Given the description of an element on the screen output the (x, y) to click on. 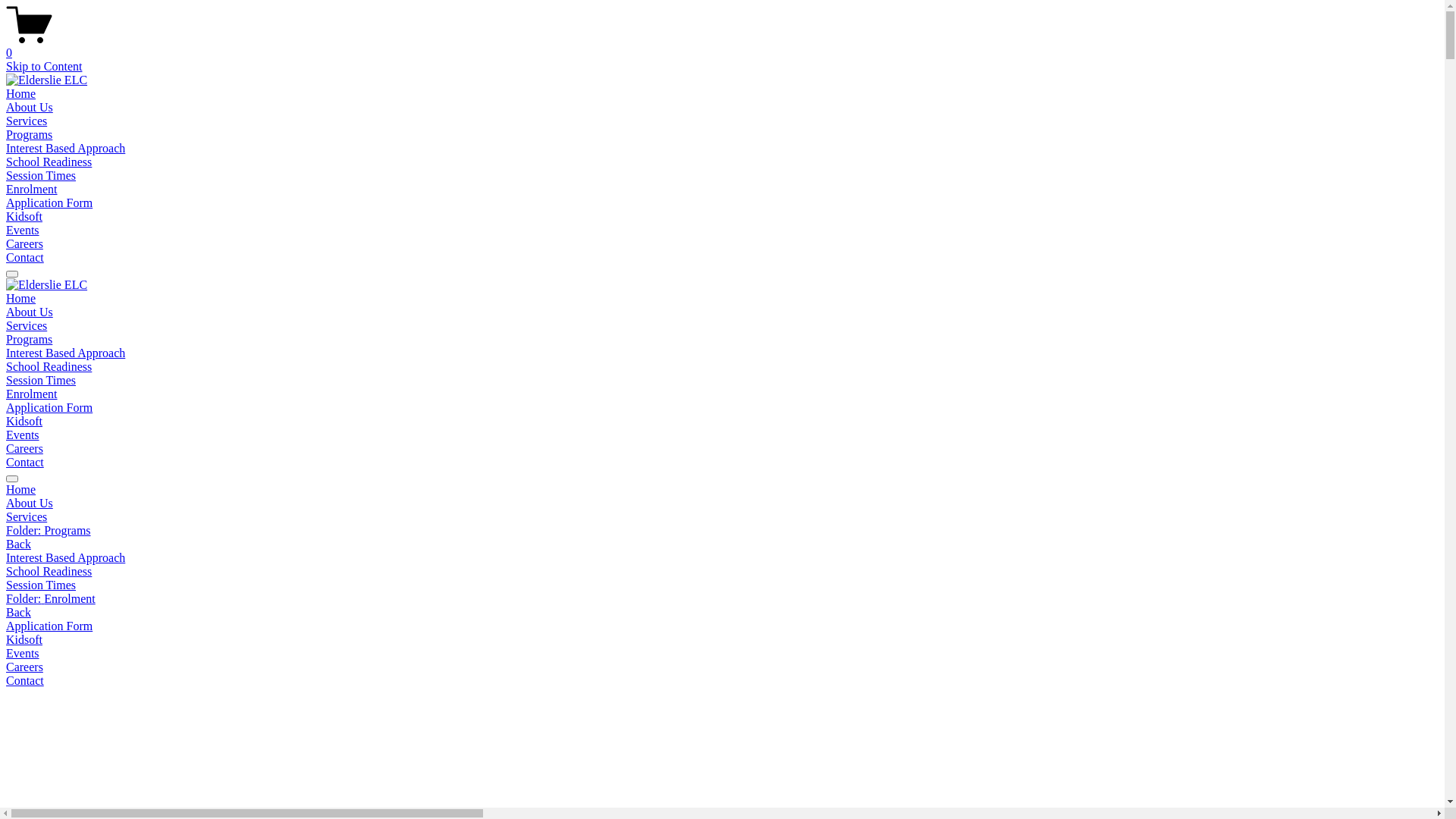
Kidsoft Element type: text (24, 216)
Application Form Element type: text (722, 626)
0 Element type: text (722, 45)
Back Element type: text (18, 611)
About Us Element type: text (722, 503)
School Readiness Element type: text (48, 366)
Back Element type: text (18, 543)
Careers Element type: text (24, 448)
Kidsoft Element type: text (24, 420)
Enrolment Element type: text (31, 188)
Folder: Programs Element type: text (722, 530)
Services Element type: text (722, 517)
Session Times Element type: text (40, 175)
Services Element type: text (26, 325)
Home Element type: text (20, 297)
Application Form Element type: text (49, 202)
Programs Element type: text (29, 338)
School Readiness Element type: text (48, 161)
Contact Element type: text (24, 461)
About Us Element type: text (29, 106)
Events Element type: text (722, 653)
Home Element type: text (20, 93)
Home Element type: text (722, 489)
Kidsoft Element type: text (722, 639)
Services Element type: text (26, 120)
Contact Element type: text (24, 257)
Application Form Element type: text (49, 407)
Interest Based Approach Element type: text (65, 352)
Careers Element type: text (722, 667)
Contact Element type: text (722, 680)
Programs Element type: text (29, 134)
Session Times Element type: text (722, 585)
Events Element type: text (22, 229)
Careers Element type: text (24, 243)
Enrolment Element type: text (31, 393)
Interest Based Approach Element type: text (722, 557)
Folder: Enrolment Element type: text (722, 598)
Events Element type: text (22, 434)
About Us Element type: text (29, 311)
Session Times Element type: text (40, 379)
School Readiness Element type: text (722, 571)
Skip to Content Element type: text (43, 65)
Interest Based Approach Element type: text (65, 147)
